Given the description of an element on the screen output the (x, y) to click on. 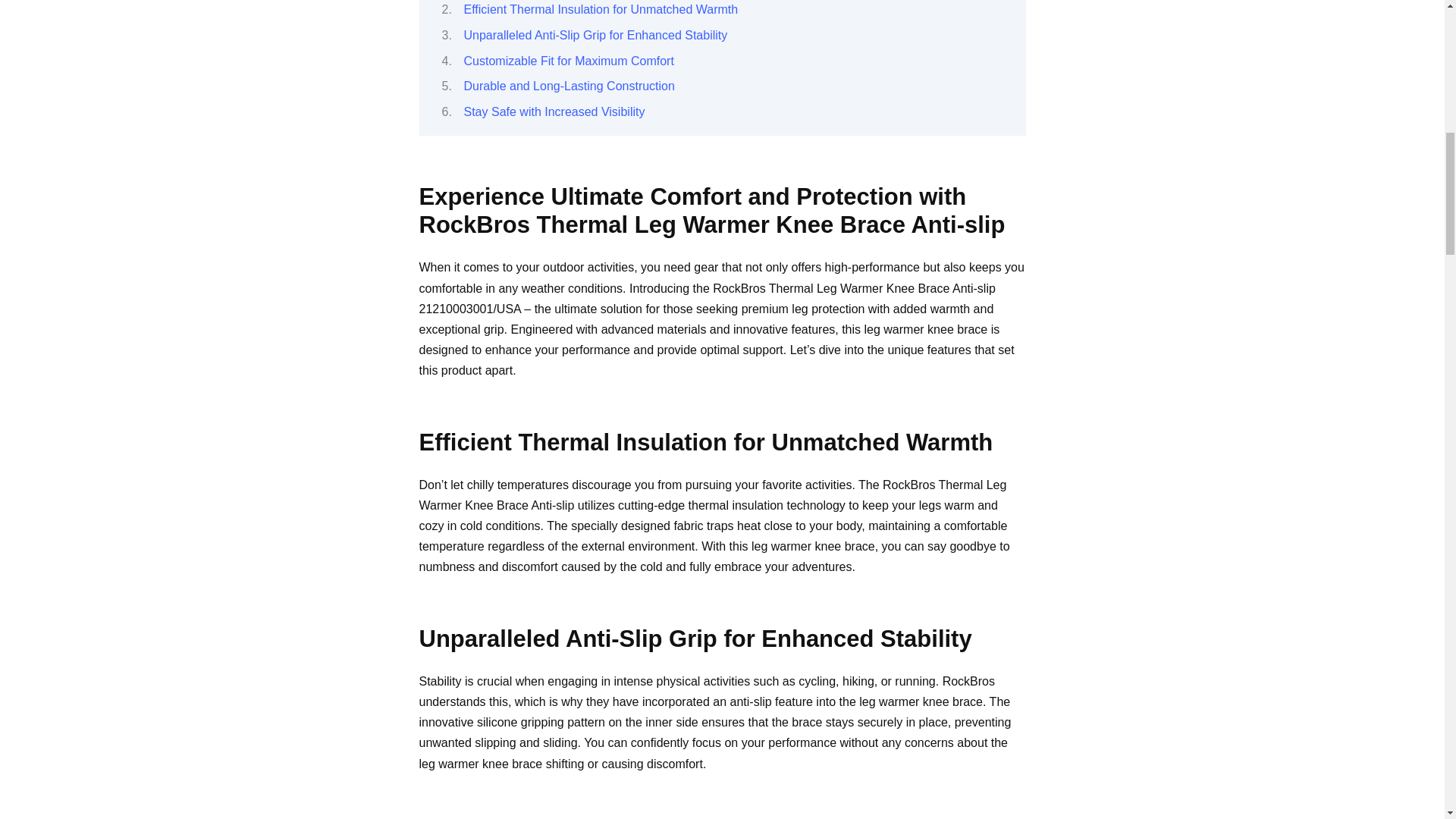
Efficient Thermal Insulation for Unmatched Warmth (601, 9)
